Given the description of an element on the screen output the (x, y) to click on. 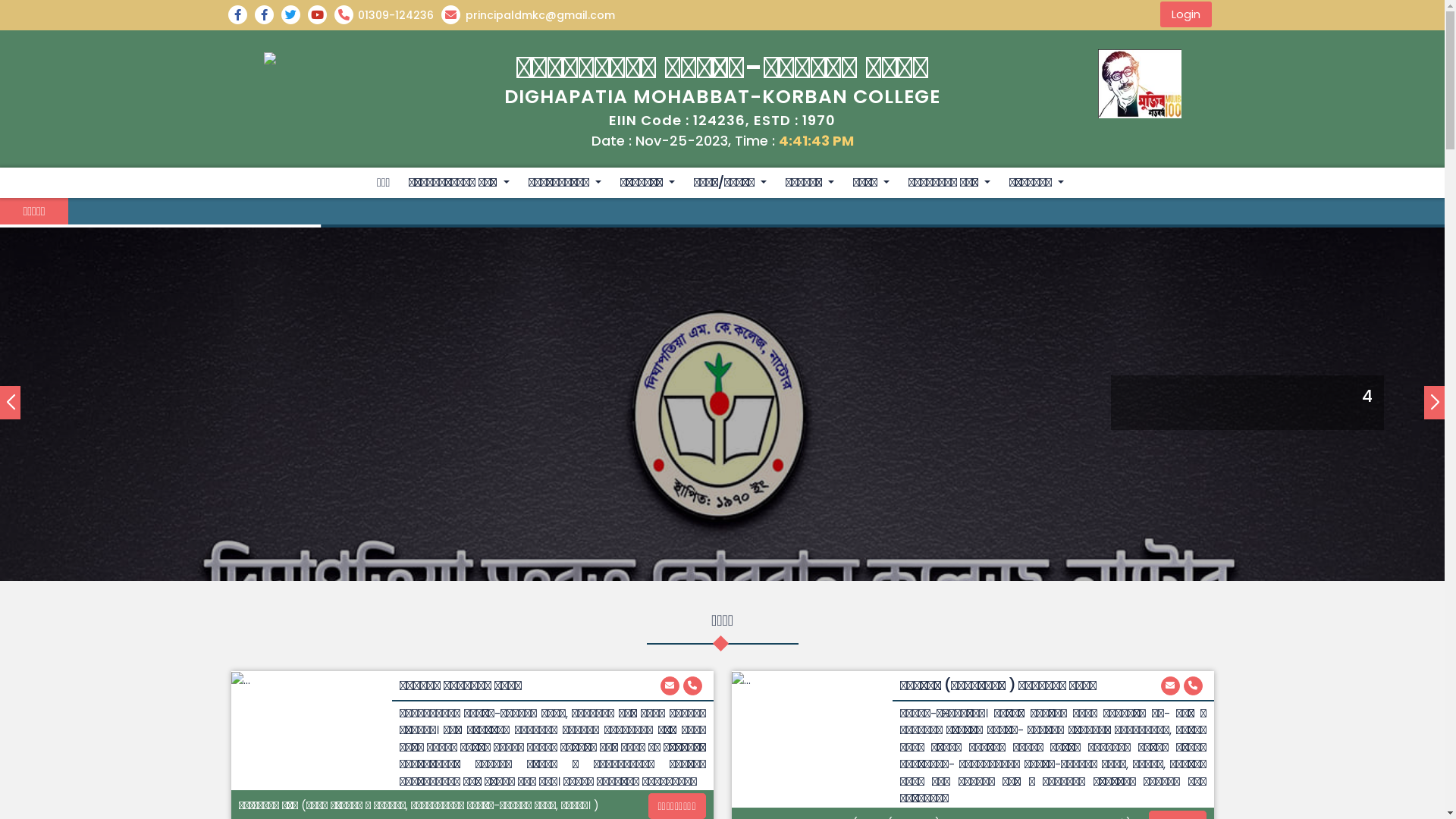
principaldmkc@gmail.com  Element type: hover (1169, 685)
01309-124236 Element type: text (386, 14)
Facebook Page Element type: hover (267, 14)
dcnatore@mopa.gov.bd Element type: hover (668, 685)
01713201515 Element type: hover (691, 685)
01718663848 Element type: hover (1192, 685)
Facebook Group Element type: hover (240, 14)
Login Element type: text (1185, 14)
principaldmkc@gmail.com Element type: text (531, 14)
